Given the description of an element on the screen output the (x, y) to click on. 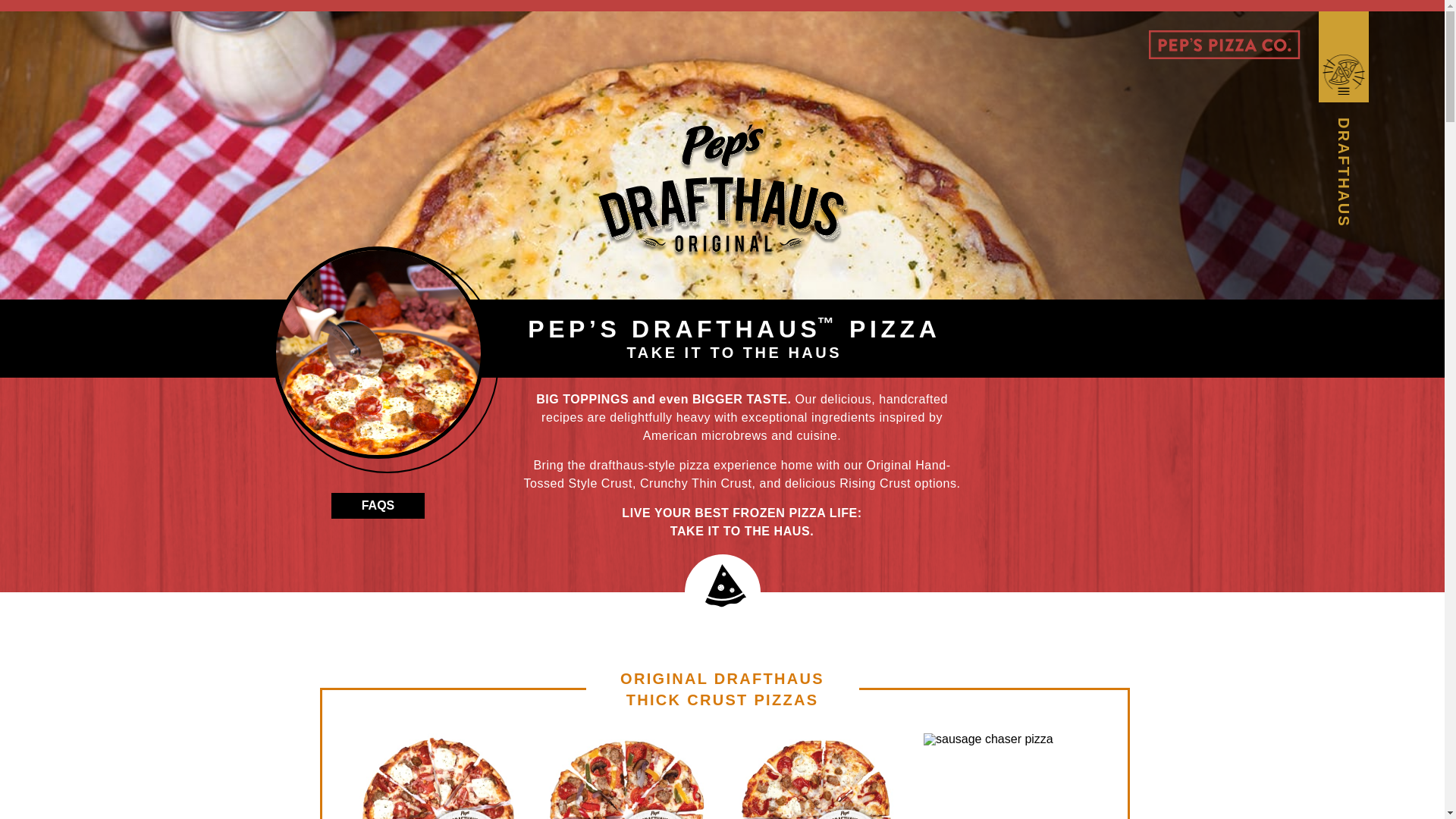
THE TAPROOM DOUBLE (817, 776)
THE SAUSAGE CHASER (1006, 776)
THE FIVE MEAT MASH (437, 776)
drafthaus-callout-pizza-group-2 (378, 352)
FAQS (378, 505)
THE PROHIBITION SPECIAL (627, 776)
